Given the description of an element on the screen output the (x, y) to click on. 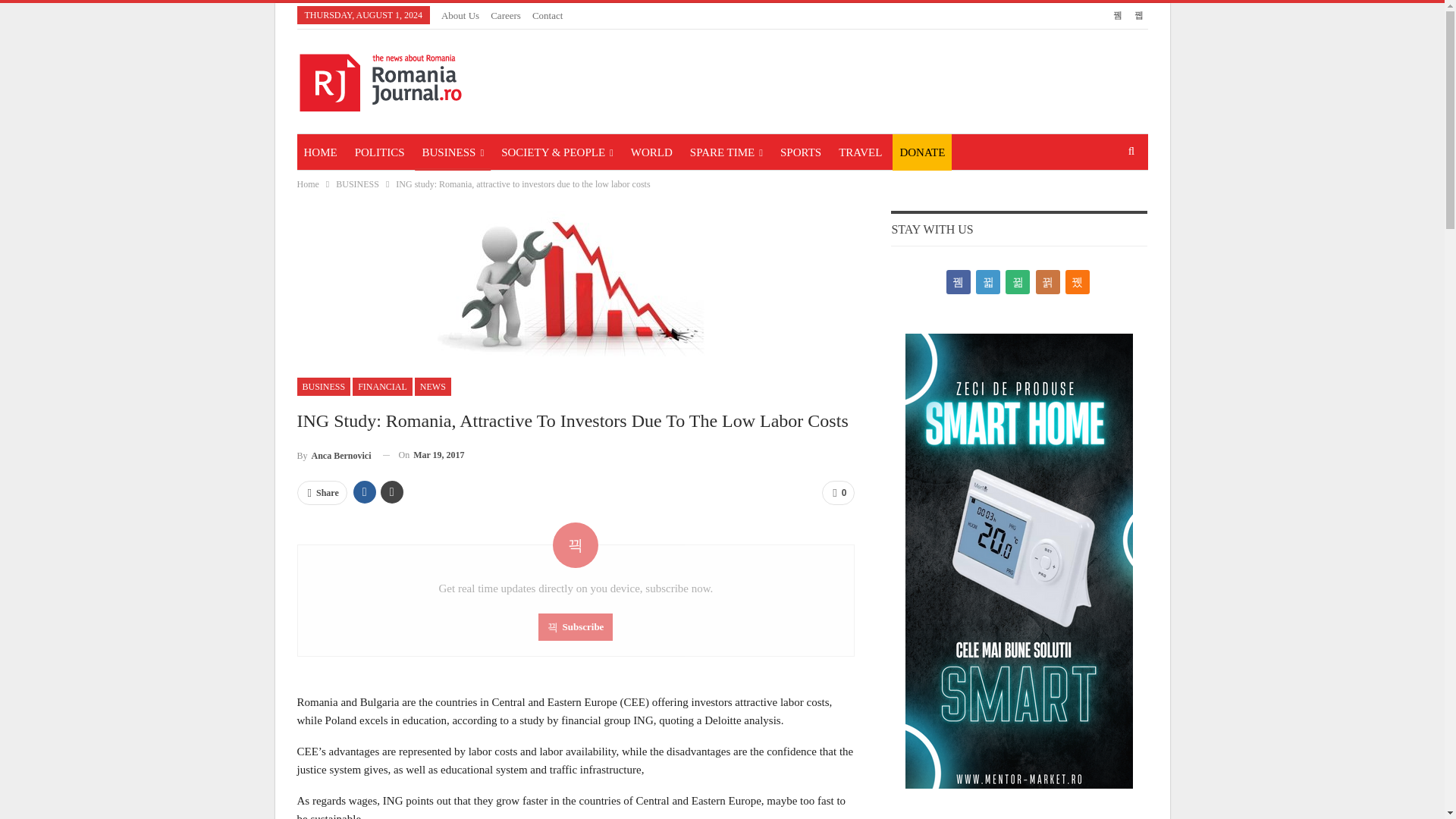
Contact (547, 15)
POLITICS (379, 152)
HOME (320, 152)
BUSINESS (323, 386)
DONATE (922, 152)
Home (307, 184)
Advertisement (871, 79)
SPORTS (800, 152)
BUSINESS (357, 184)
Browse Author Articles (334, 455)
TRAVEL (859, 152)
SPARE TIME (726, 152)
Careers (505, 15)
BUSINESS (453, 152)
About Us (460, 15)
